Given the description of an element on the screen output the (x, y) to click on. 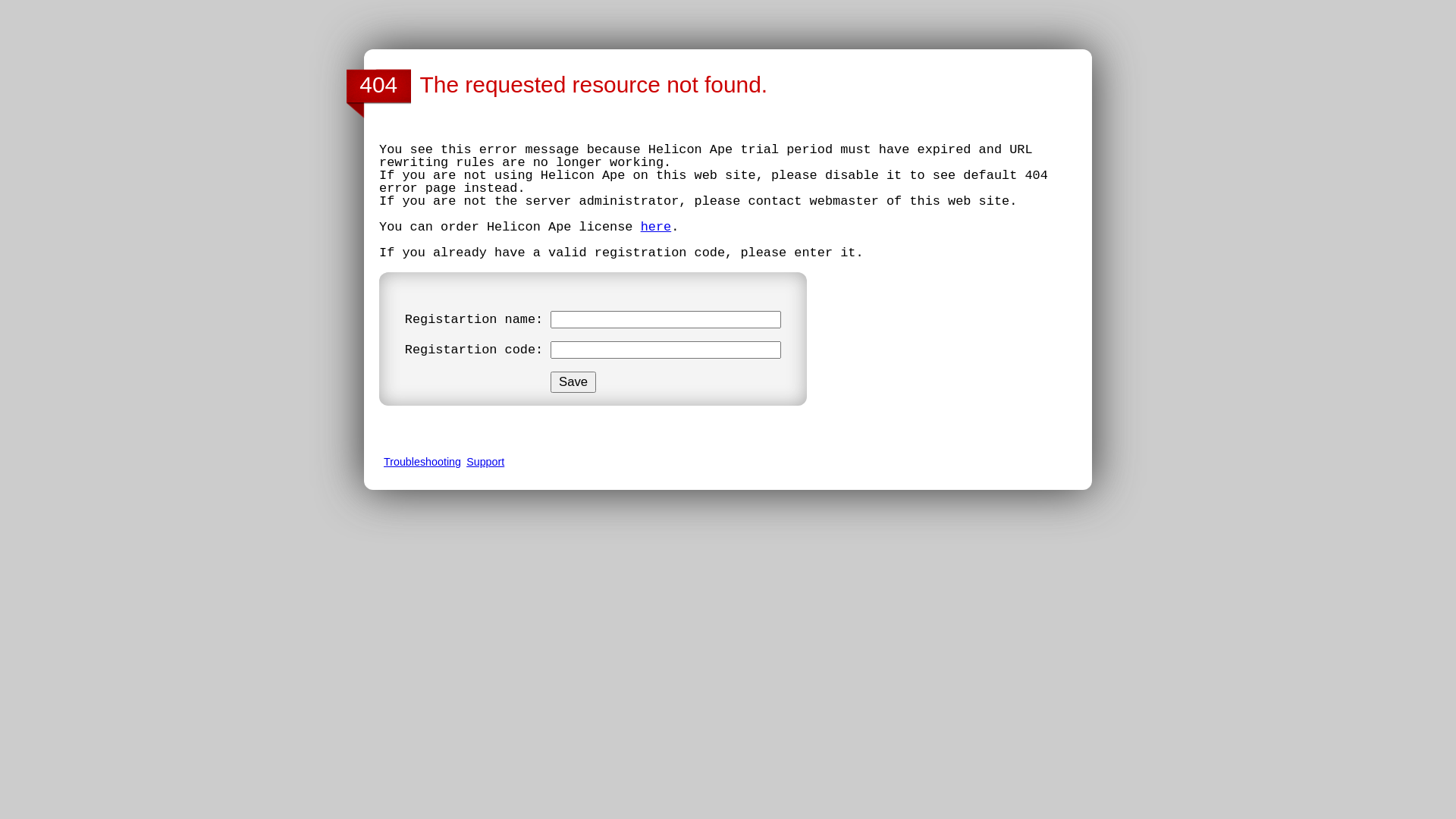
Support Element type: text (485, 461)
Troubleshooting Element type: text (422, 461)
 Save  Element type: text (572, 381)
here Element type: text (655, 226)
